Given the description of an element on the screen output the (x, y) to click on. 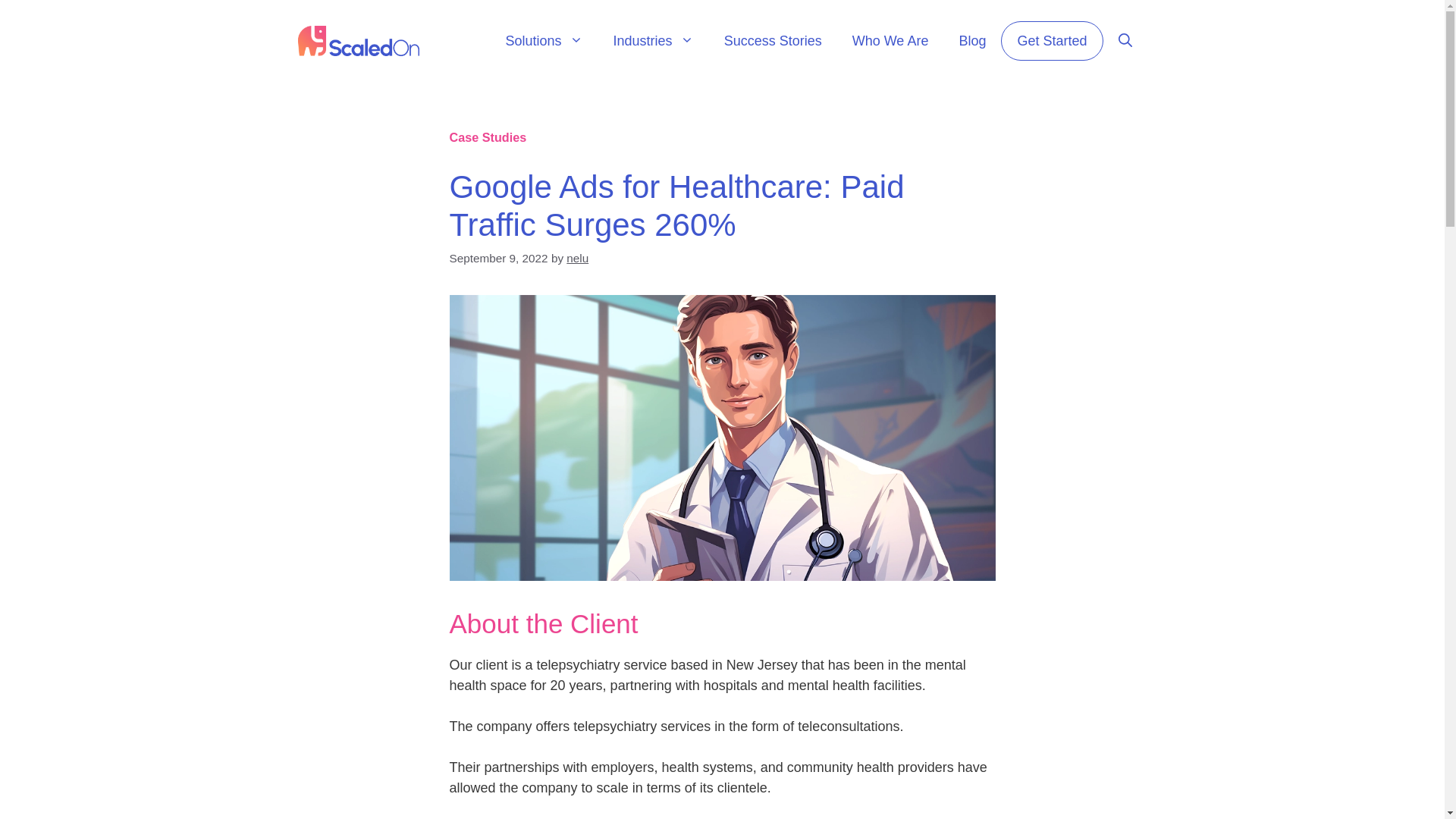
nelu (577, 257)
Who We Are (890, 40)
View all posts by nelu (577, 257)
Get Started (1051, 40)
Industries (653, 40)
Solutions (544, 40)
Blog (972, 40)
Success Stories (773, 40)
